Given the description of an element on the screen output the (x, y) to click on. 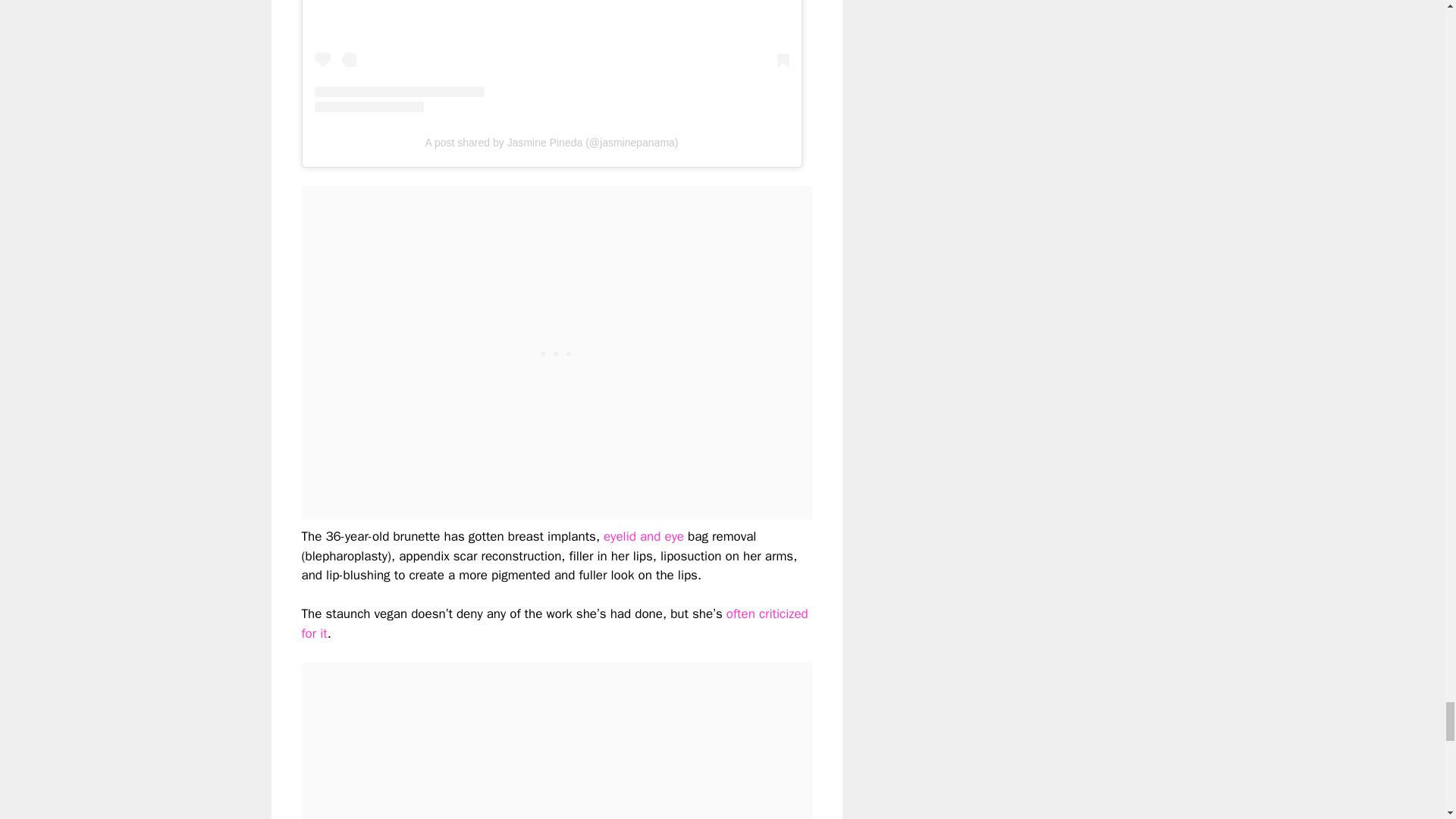
eyelid and eye (645, 536)
often criticized for it (554, 623)
View this post on Instagram (551, 56)
